Given the description of an element on the screen output the (x, y) to click on. 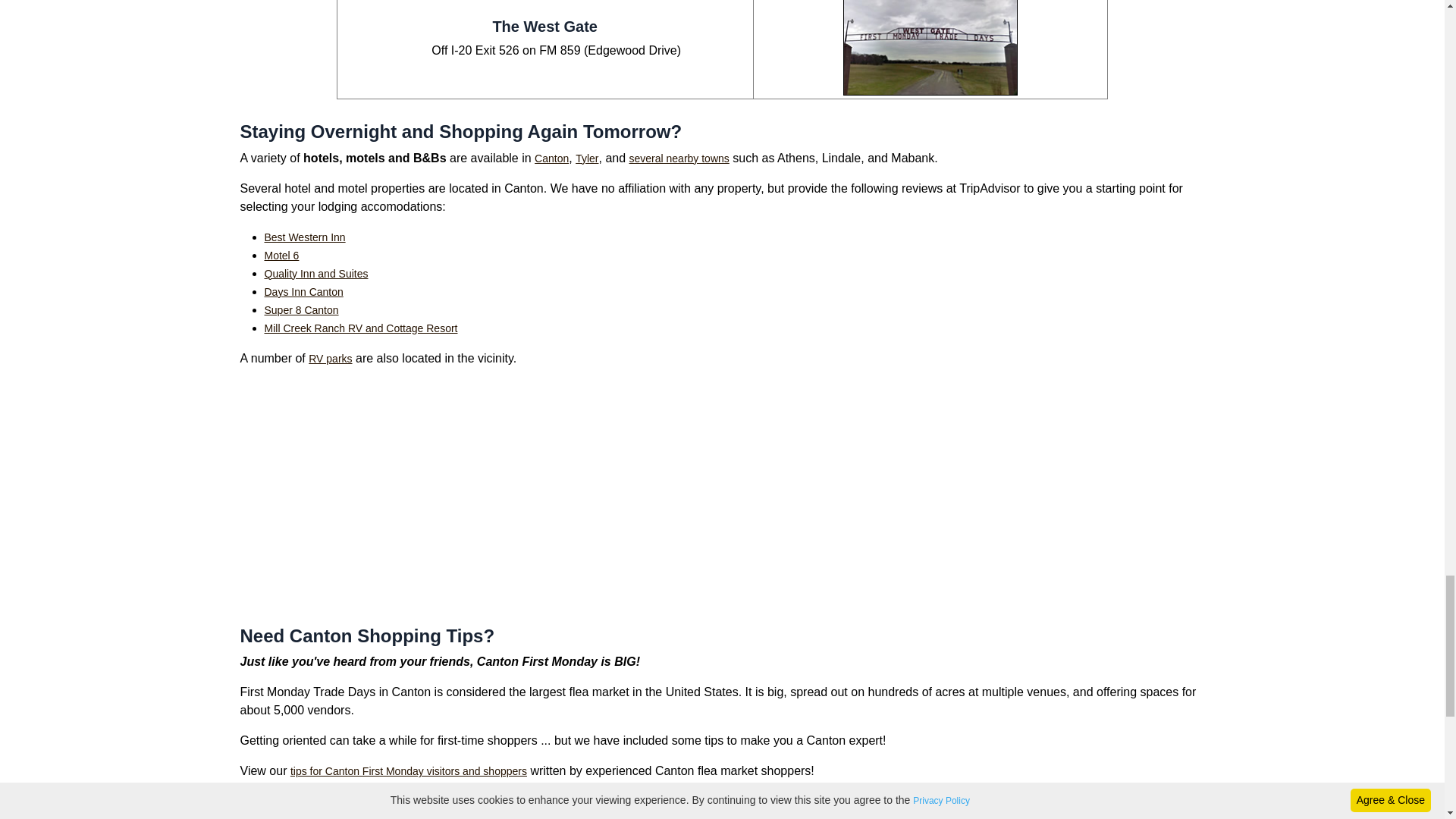
Canton First Monday Trade Days sign in Texas (722, 806)
